Given the description of an element on the screen output the (x, y) to click on. 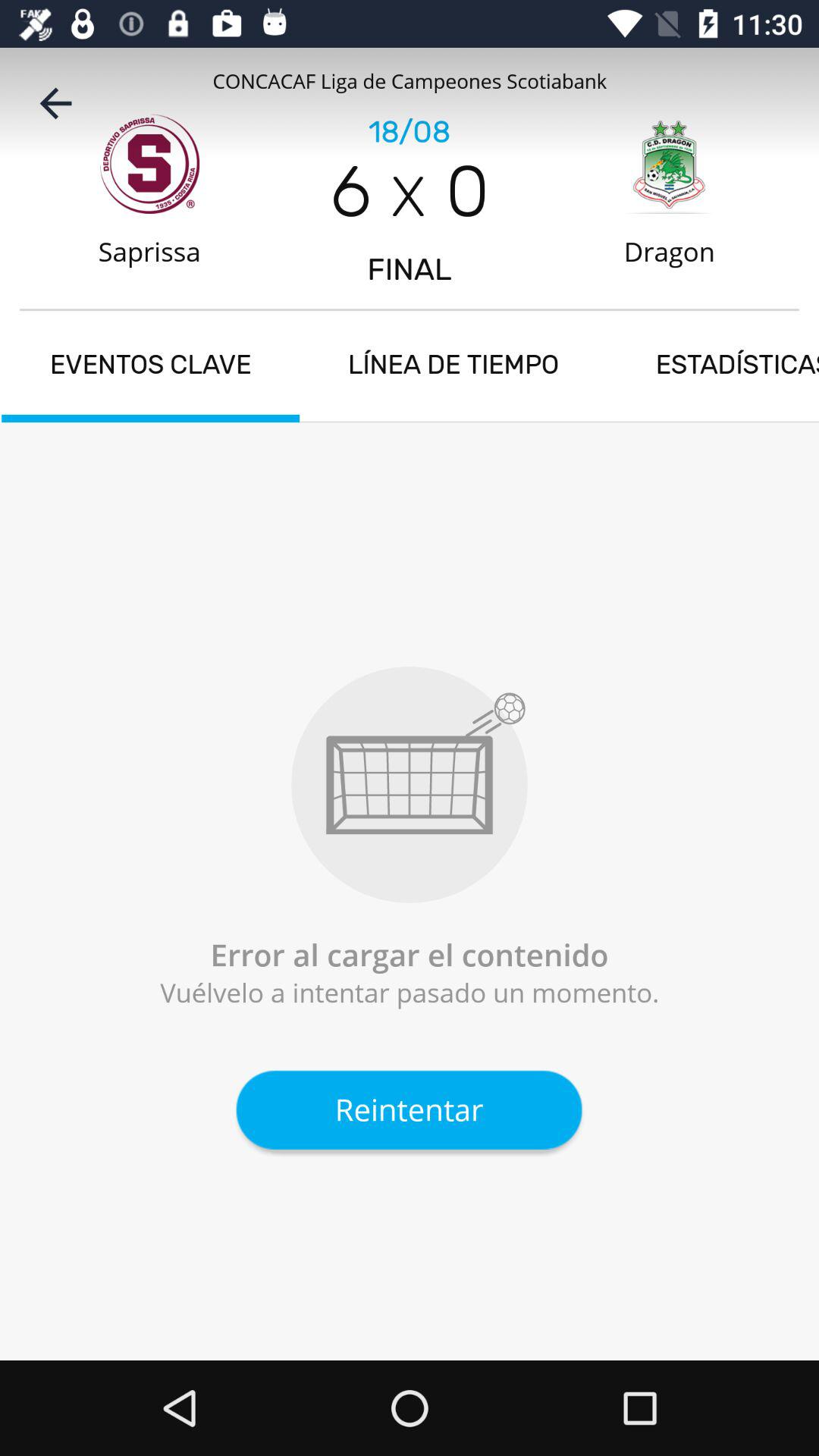
tap the icon to the left of the 18/08 item (55, 103)
